Given the description of an element on the screen output the (x, y) to click on. 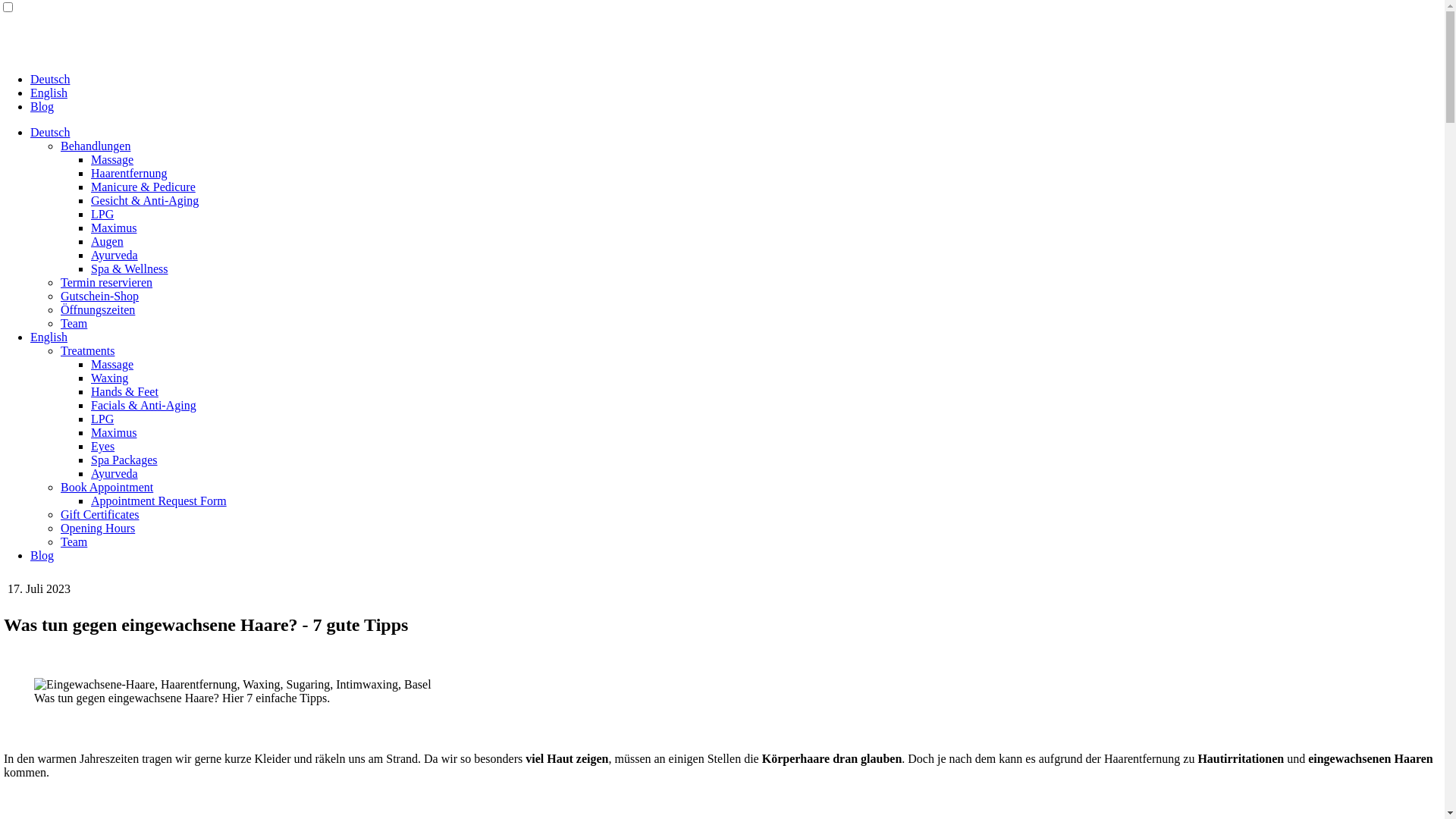
Termin reservieren Element type: text (106, 282)
Ayurveda Element type: text (114, 473)
Team Element type: text (73, 541)
Deutsch Element type: text (49, 131)
Augen Element type: text (107, 241)
Waxing Element type: text (109, 377)
LPG Element type: text (102, 418)
Team Element type: text (73, 322)
Eyes Element type: text (102, 445)
Spa & Wellness Element type: text (129, 268)
Behandlungen Element type: text (95, 145)
Gift Certificates Element type: text (99, 514)
Gesicht & Anti-Aging Element type: text (144, 200)
Spa Packages Element type: text (124, 459)
Maximus Element type: text (113, 227)
Maximus Element type: text (113, 432)
Blog Element type: text (41, 555)
Blog Element type: text (41, 106)
Facials & Anti-Aging Element type: text (143, 404)
English Element type: text (48, 92)
Appointment Request Form Element type: text (158, 500)
Opening Hours Element type: text (97, 527)
Deutsch Element type: text (49, 78)
Gutschein-Shop Element type: text (99, 295)
Manicure & Pedicure Element type: text (143, 186)
Treatments Element type: text (87, 350)
LPG Element type: text (102, 213)
Book Appointment Element type: text (106, 486)
English Element type: text (48, 336)
Ayurveda Element type: text (114, 254)
Massage Element type: text (112, 159)
Haarentfernung Element type: text (128, 172)
Hands & Feet Element type: text (124, 391)
Massage Element type: text (112, 363)
